Given the description of an element on the screen output the (x, y) to click on. 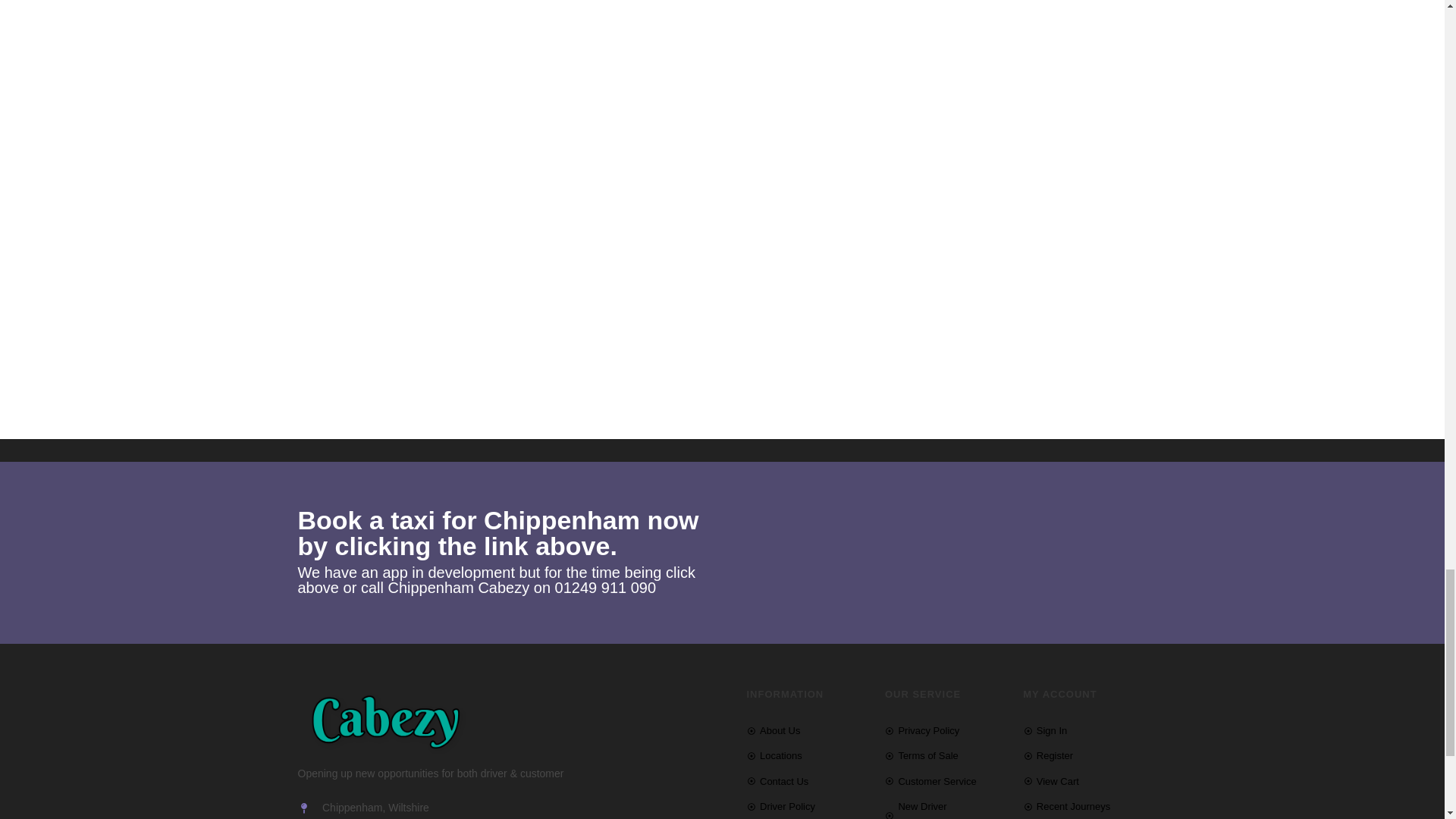
Driver Policy (807, 805)
Privacy Policy (946, 730)
Customer Service (946, 781)
Register (1085, 755)
Sign In (1085, 730)
Terms of Sale (946, 755)
Locations (807, 755)
View Cart (1085, 781)
Contact Us (807, 781)
About Us (807, 730)
New Driver Opportunities (946, 808)
Recent Journeys (1085, 805)
